Given the description of an element on the screen output the (x, y) to click on. 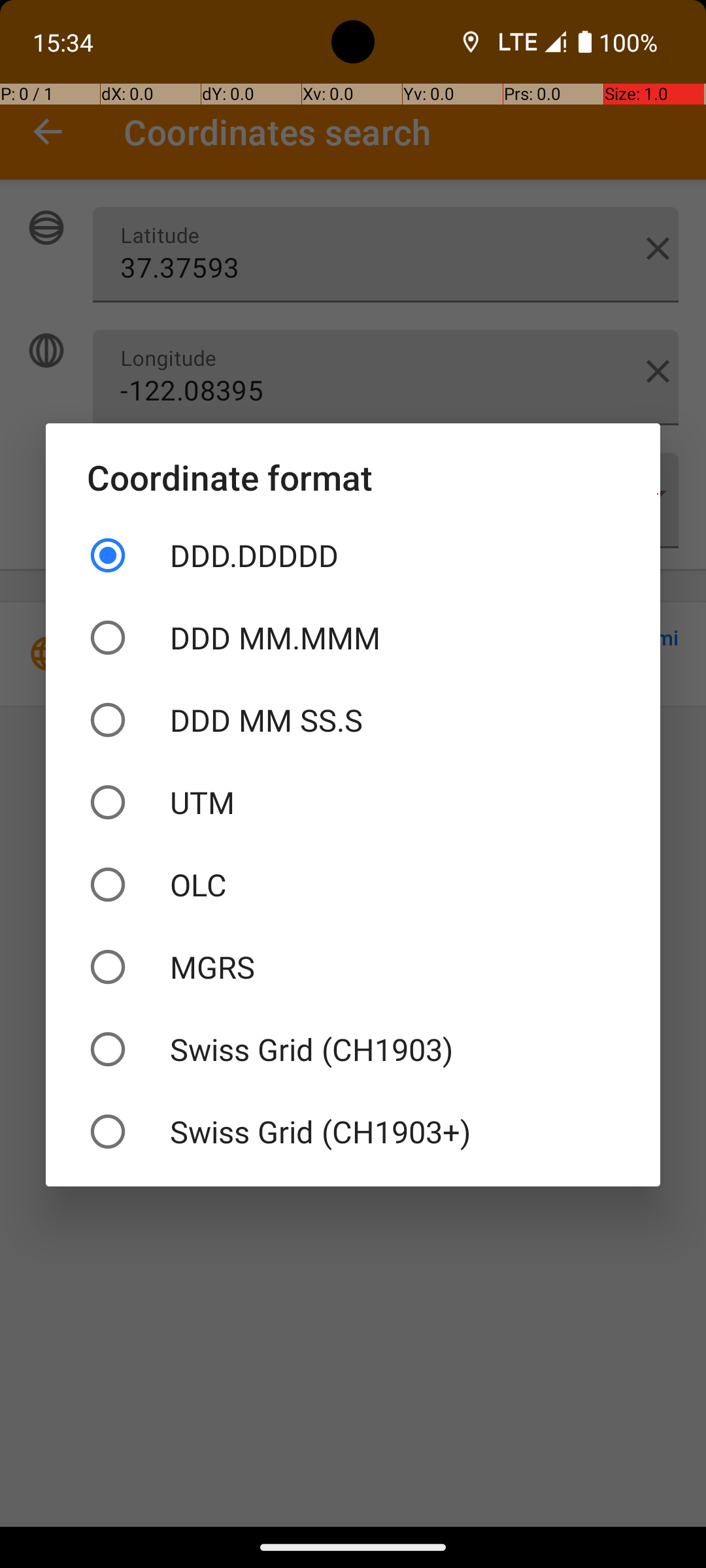
Coordinate format Element type: android.widget.TextView (352, 477)
DDD.DDDDD Element type: android.widget.CheckedTextView (352, 555)
DDD MM.MMM Element type: android.widget.CheckedTextView (352, 637)
DDD MM SS.S Element type: android.widget.CheckedTextView (352, 719)
UTM Element type: android.widget.CheckedTextView (352, 802)
OLC Element type: android.widget.CheckedTextView (352, 884)
MGRS Element type: android.widget.CheckedTextView (352, 966)
Swiss Grid (CH1903) Element type: android.widget.CheckedTextView (352, 1049)
Swiss Grid (CH1903+) Element type: android.widget.CheckedTextView (352, 1131)
